Given the description of an element on the screen output the (x, y) to click on. 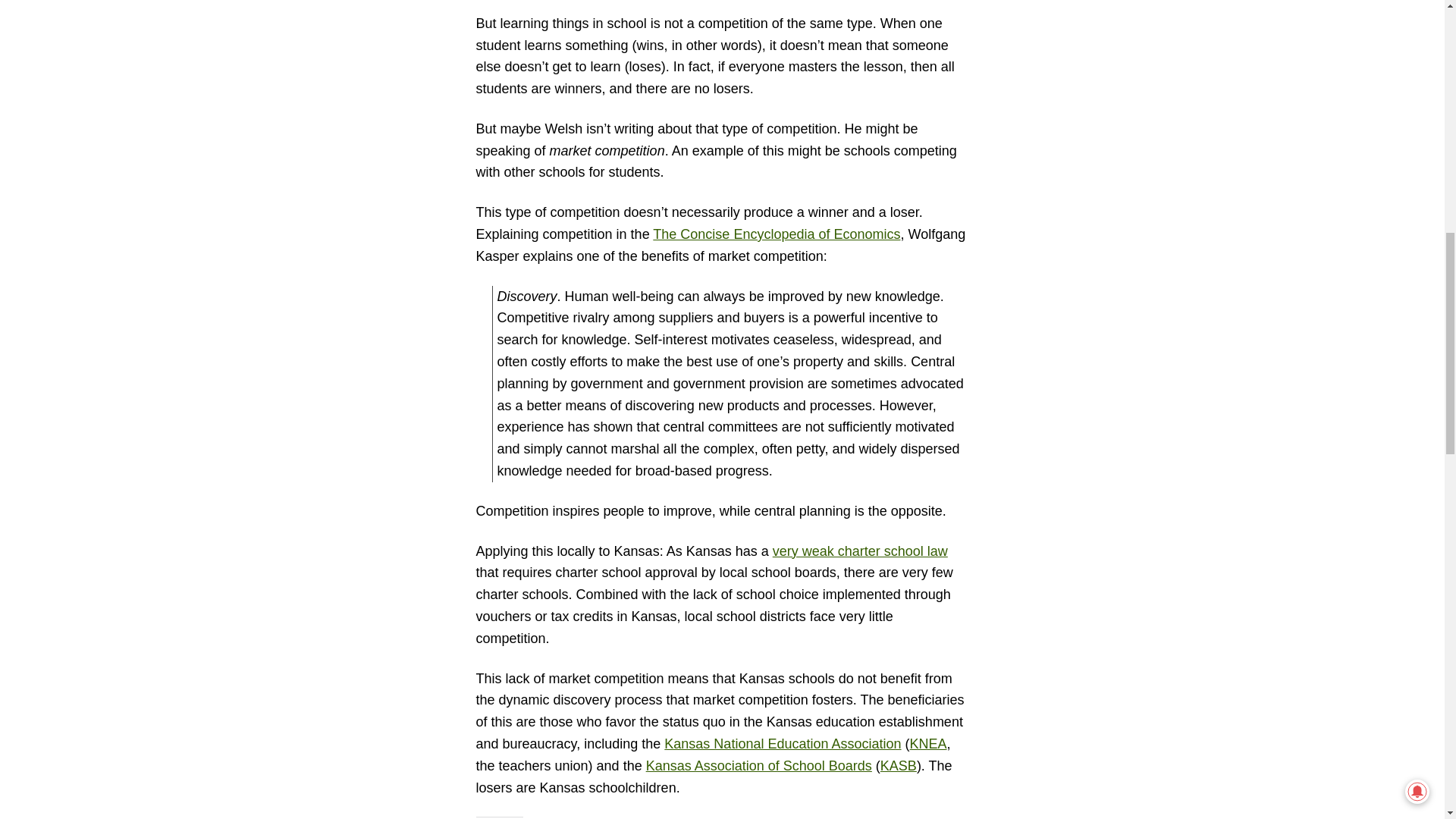
Kansas National Education Association (782, 743)
KASB (898, 765)
very weak charter school law (860, 550)
Kansas Association of School Boards (759, 765)
KNEA (928, 743)
The Concise Encyclopedia of Economics (775, 233)
